Given the description of an element on the screen output the (x, y) to click on. 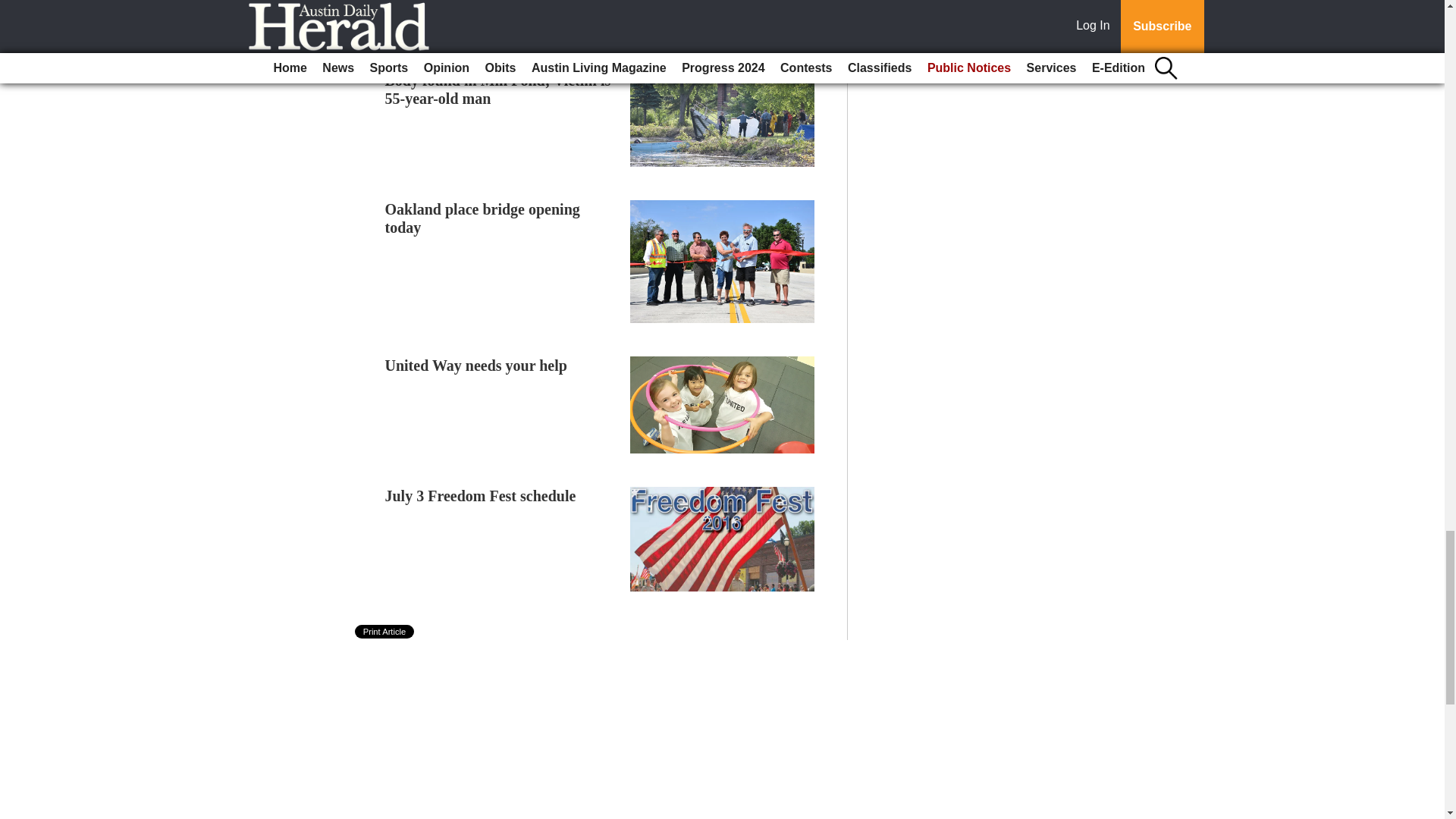
Body found in Mill Pond; Victim is 55-year-old man (498, 89)
Oakland place bridge opening today (482, 217)
July 3 Freedom Fest schedule (480, 495)
United Way needs your help (476, 365)
